Given the description of an element on the screen output the (x, y) to click on. 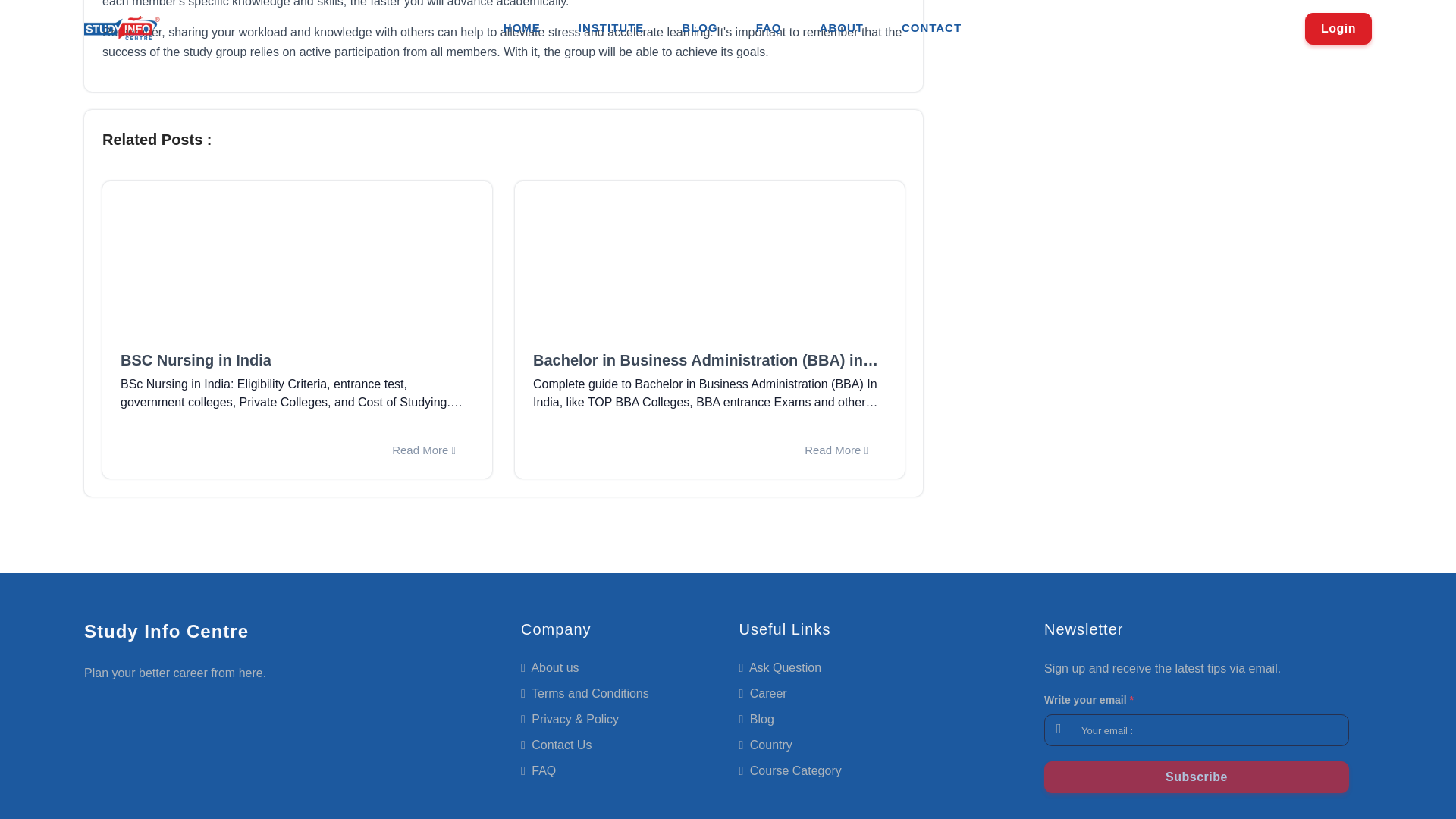
Country (765, 744)
About us (550, 667)
Contact Us (556, 744)
Study Info Centre (166, 631)
Course Category (789, 770)
Read More (836, 450)
Career (762, 693)
FAQ (538, 770)
Read More (423, 450)
BSC Nursing in India (297, 360)
Subscribe (1196, 777)
Subscribe (1196, 777)
Blog (755, 718)
Ask Question (779, 667)
Terms and Conditions (585, 693)
